Given the description of an element on the screen output the (x, y) to click on. 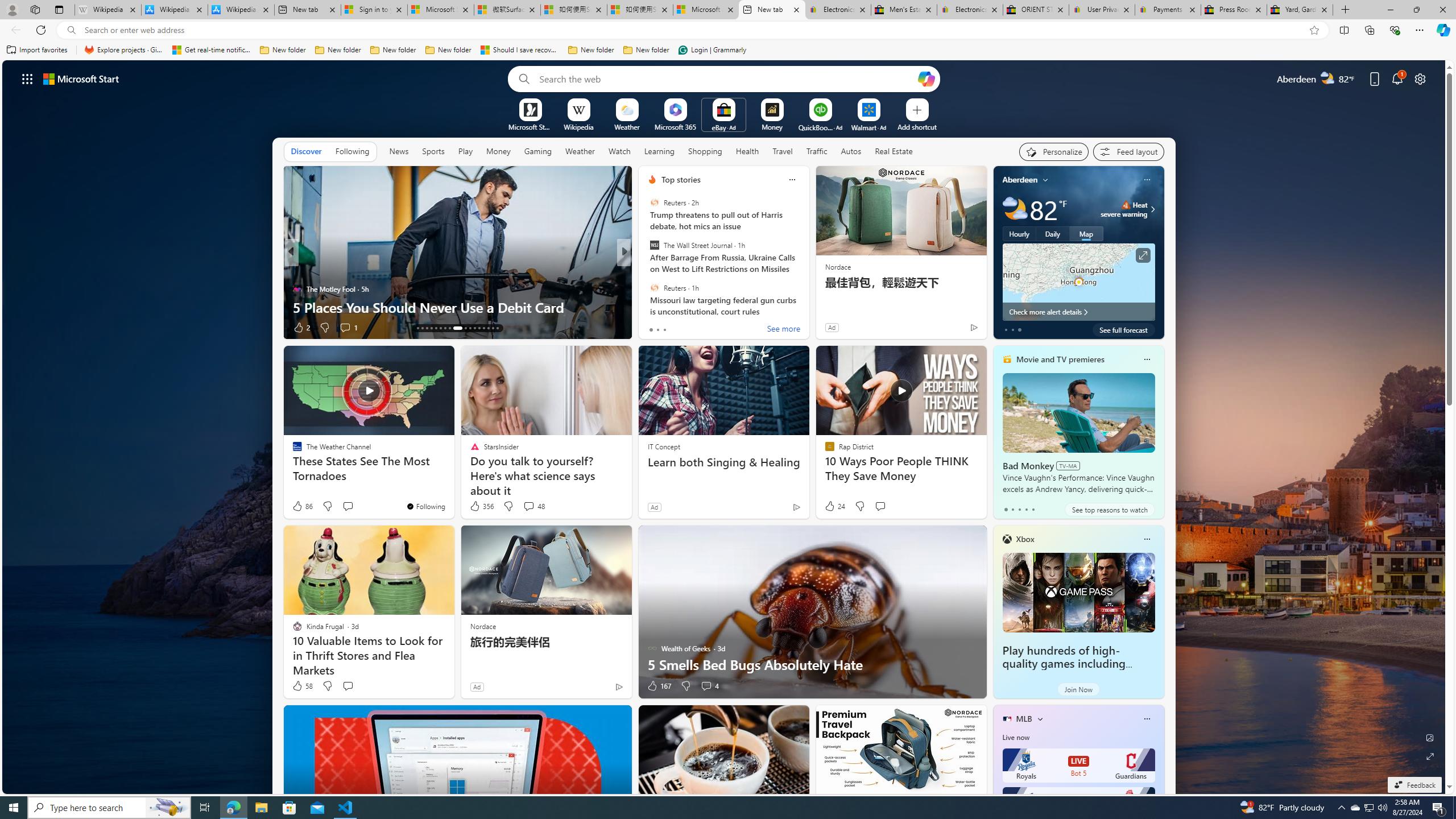
AutomationID: tab-15 (426, 328)
Newsweek (647, 288)
Gaming (537, 151)
Notifications (1397, 78)
Learning (659, 151)
Feedback (1414, 784)
AutomationID: tab-22 (461, 328)
More interests (1039, 718)
tab-4 (1032, 509)
Autos (850, 151)
Travel (782, 151)
View comments 48 Comment (528, 505)
